Given the description of an element on the screen output the (x, y) to click on. 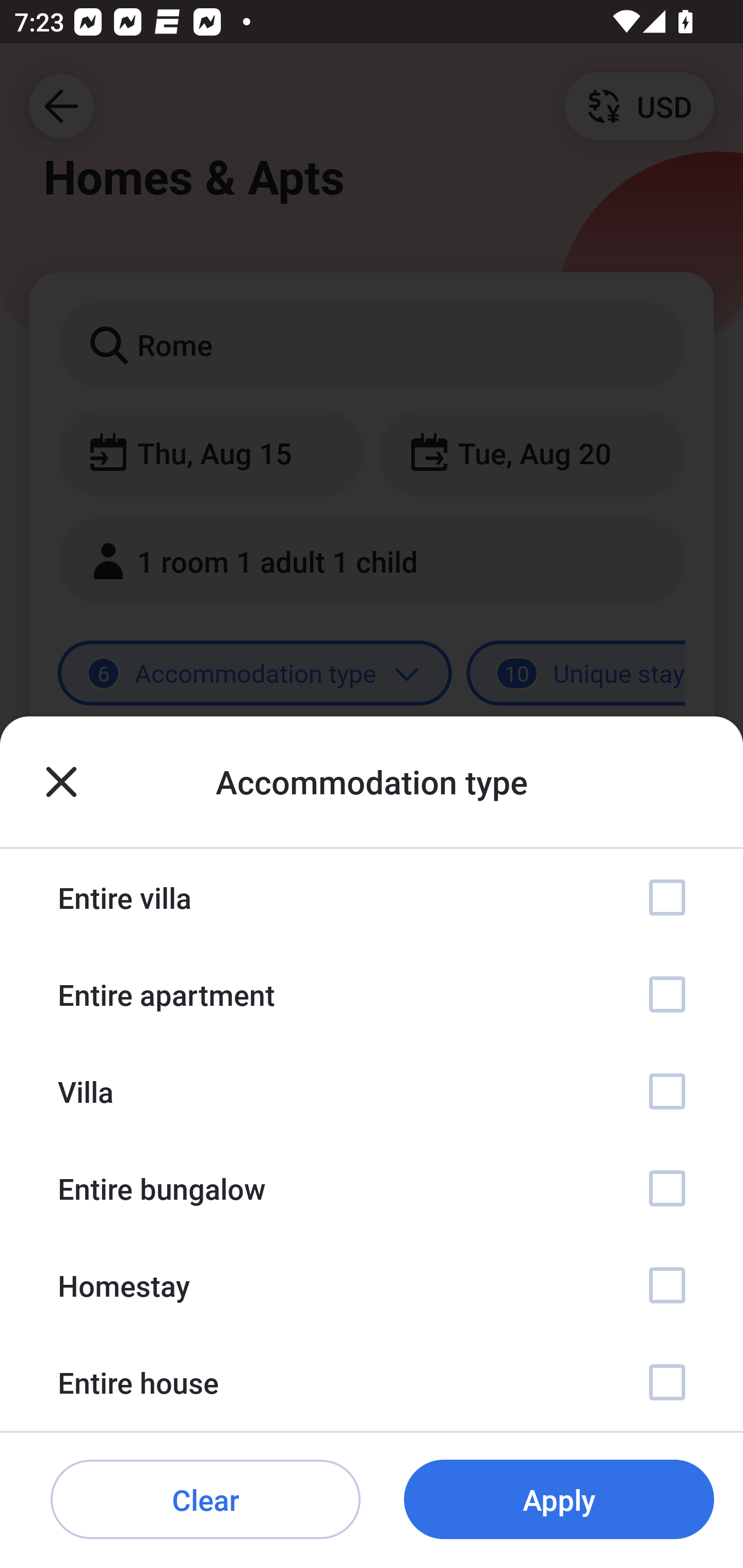
Entire villa (371, 897)
Entire apartment (371, 994)
Villa (371, 1091)
Entire bungalow (371, 1188)
Homestay (371, 1284)
Entire house (371, 1382)
Clear (205, 1499)
Apply (559, 1499)
